Given the description of an element on the screen output the (x, y) to click on. 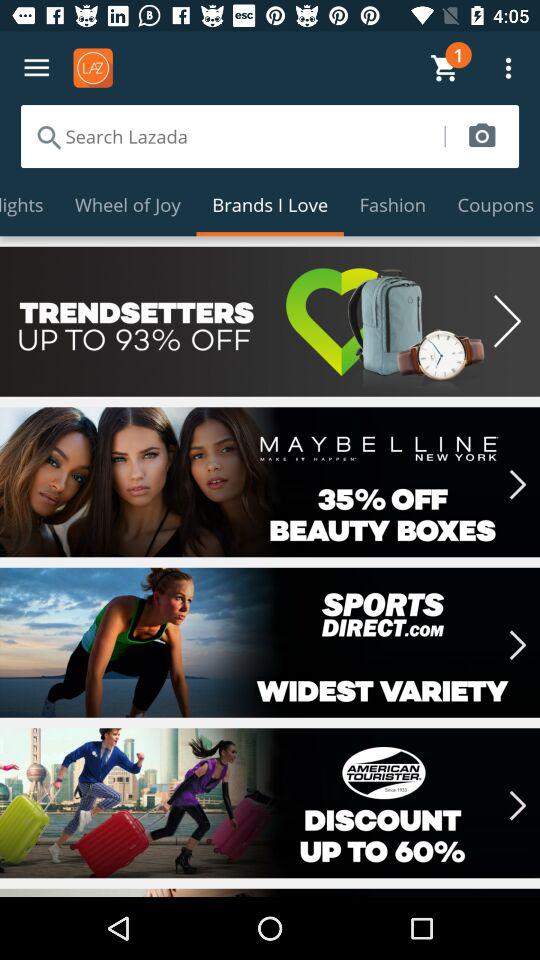
35 off discount banner (270, 482)
